Given the description of an element on the screen output the (x, y) to click on. 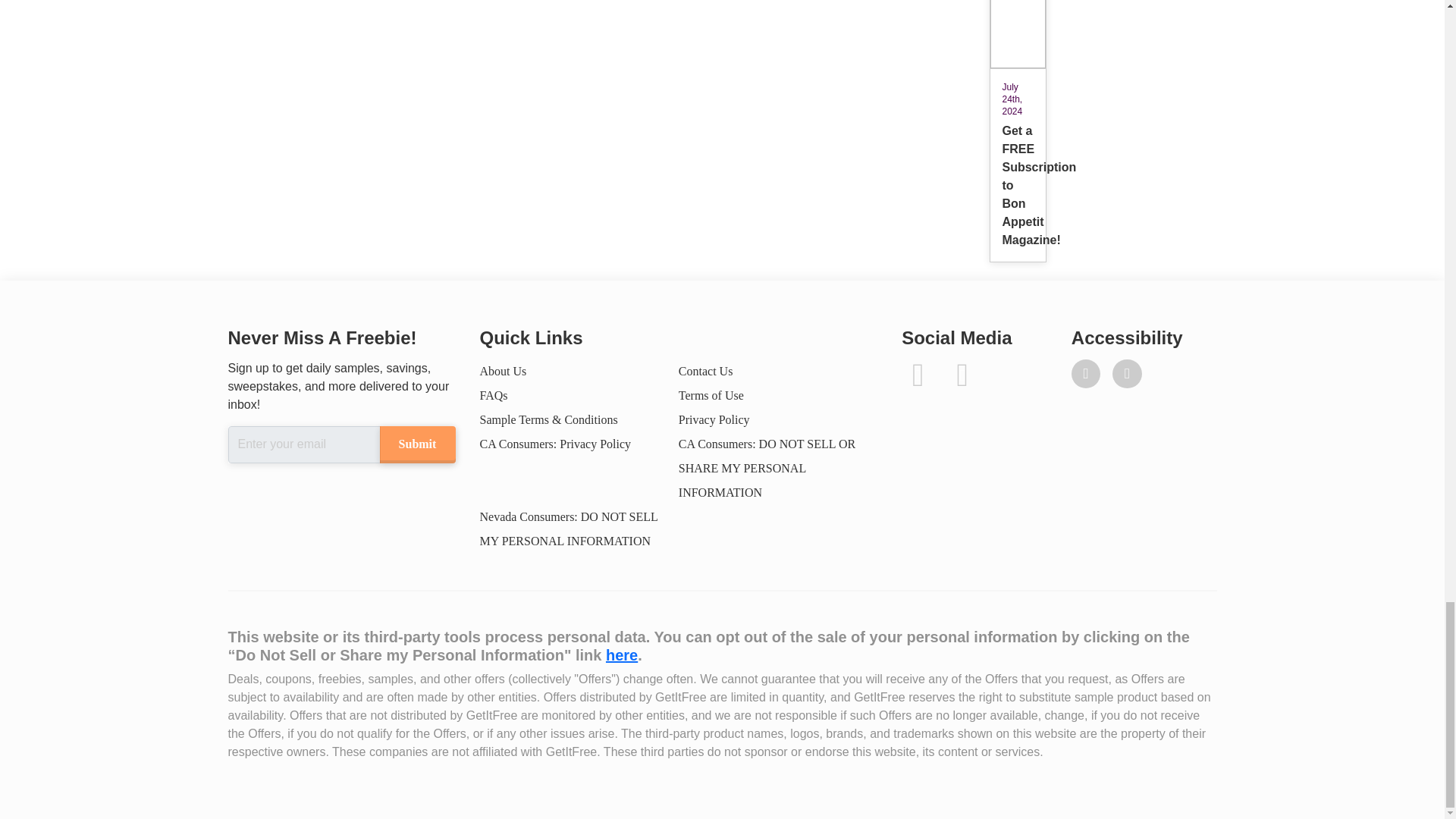
CA Consumers: DO NOT SELL OR SHARE MY PERSONAL INFORMATION (767, 467)
Terms of Use (711, 395)
Privacy Policy (713, 419)
About Us (502, 370)
Submit (416, 444)
Contact Us (705, 370)
FAQs (492, 395)
Nevada Consumers: DO NOT SELL MY PERSONAL INFORMATION (568, 528)
CA Consumers: Privacy Policy (554, 443)
